Given the description of an element on the screen output the (x, y) to click on. 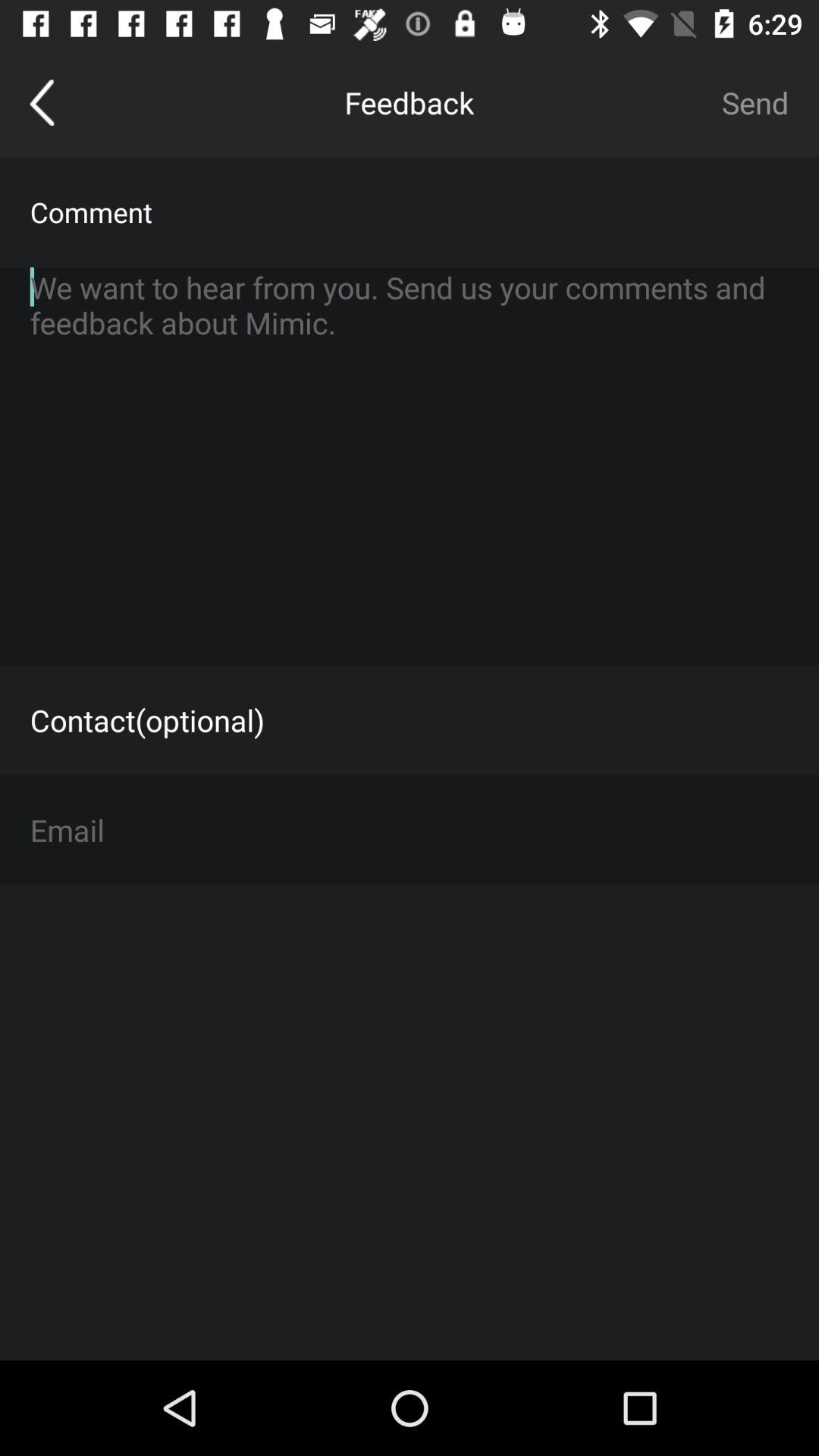
tap send icon (755, 102)
